Given the description of an element on the screen output the (x, y) to click on. 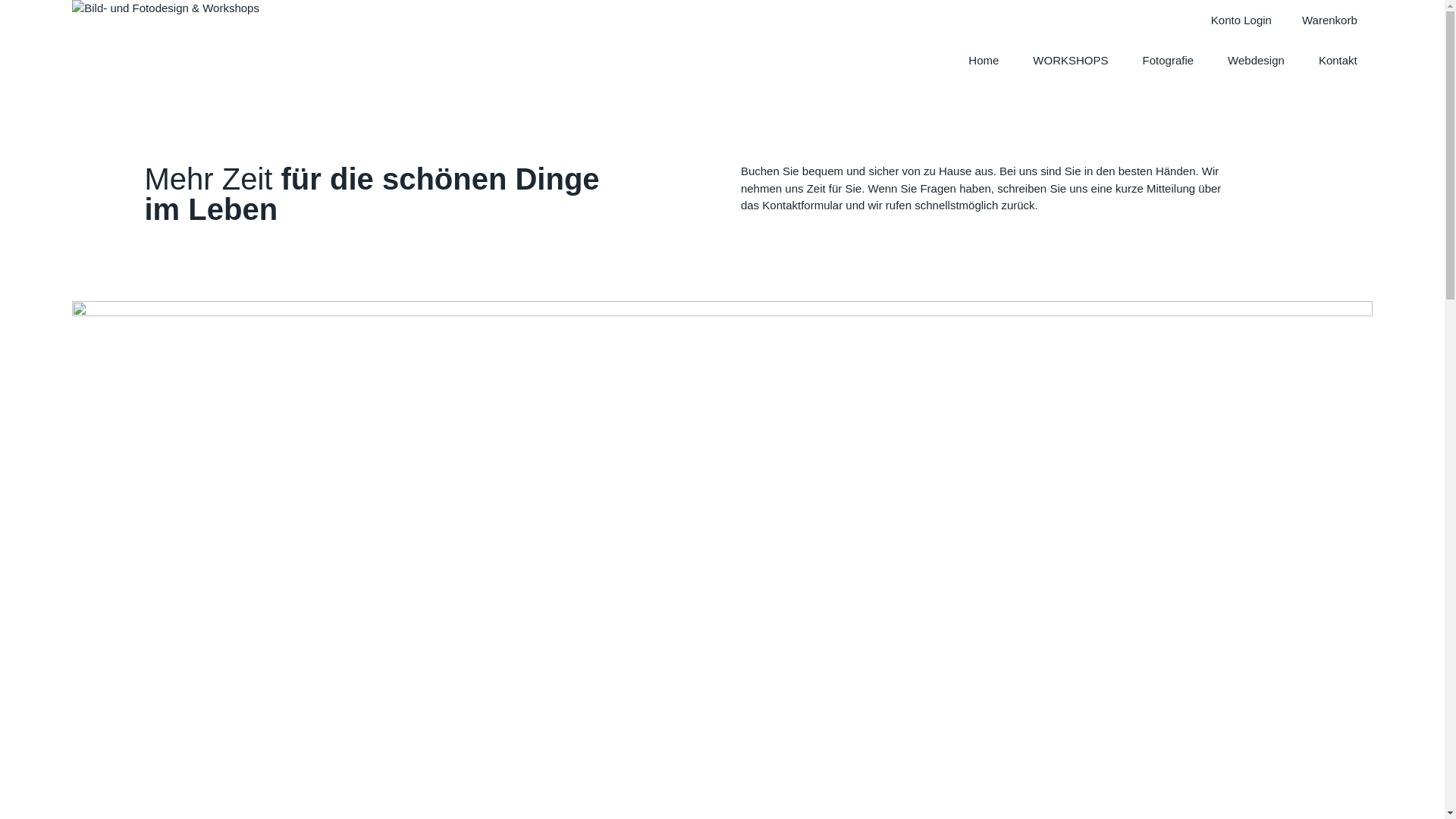
Kontaktformular Element type: text (802, 204)
Fotografie Element type: text (1168, 60)
Home Element type: text (983, 60)
WORKSHOPS Element type: text (1070, 60)
Kontakt Element type: text (1337, 60)
Bilddesign Atelier Element type: hover (165, 45)
Webdesign Element type: text (1255, 60)
Konto Login Element type: text (1240, 20)
Warenkorb Element type: text (1329, 20)
